Given the description of an element on the screen output the (x, y) to click on. 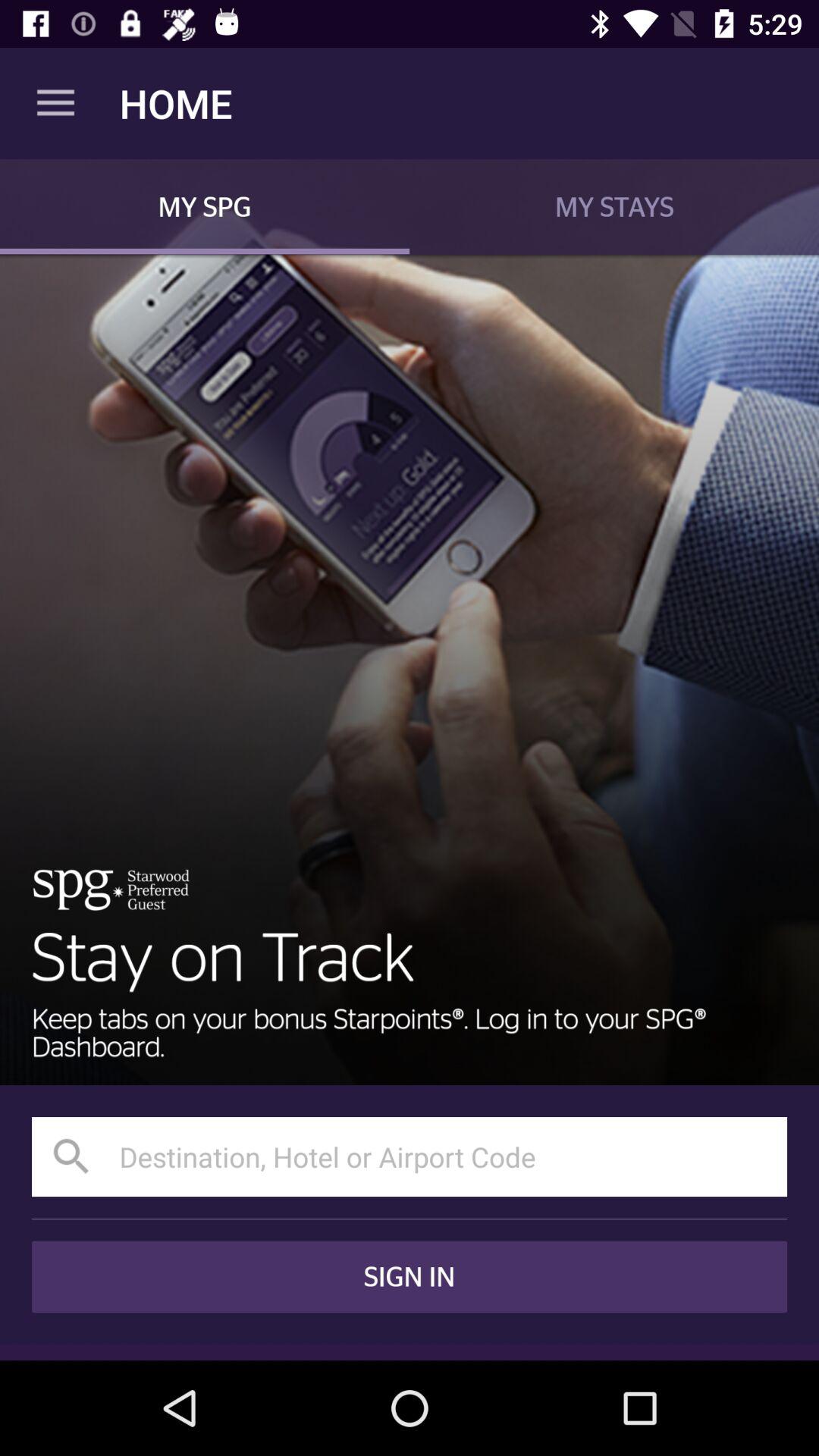
tap the app next to home (55, 103)
